Given the description of an element on the screen output the (x, y) to click on. 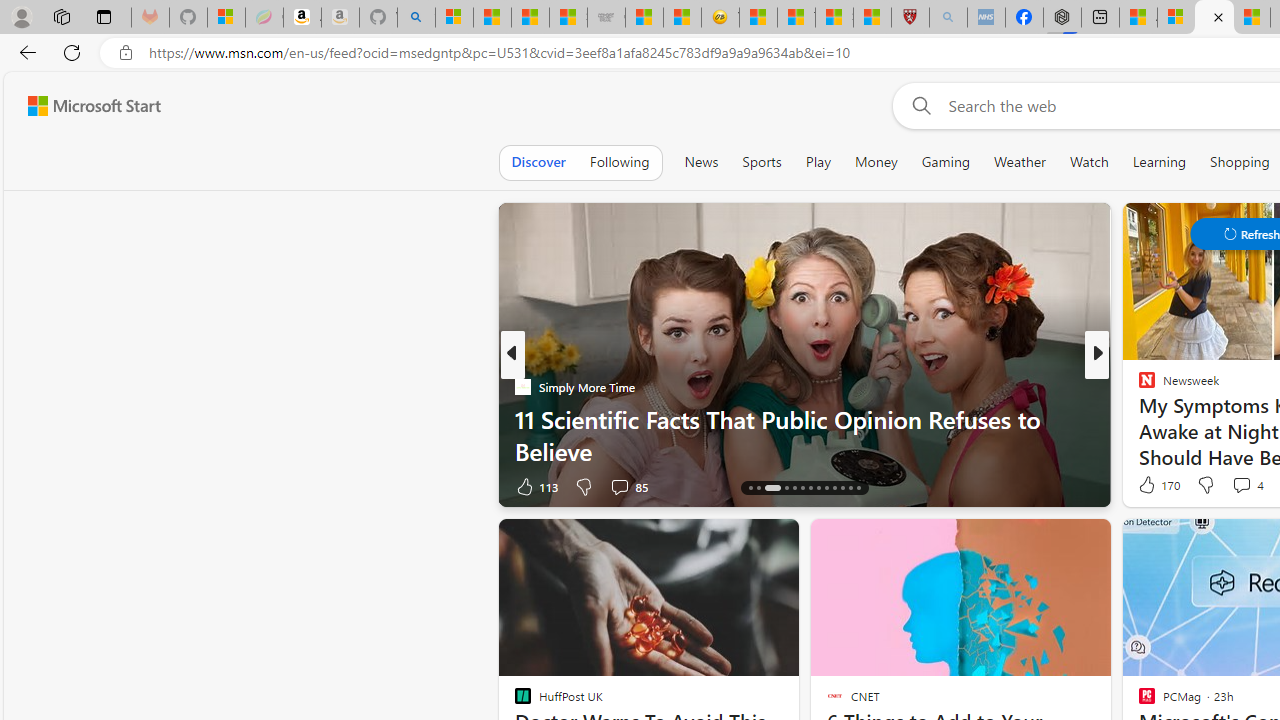
AutomationID: tab-22 (825, 487)
TODAY (1138, 386)
View comments 85 Comment (619, 485)
AutomationID: tab-21 (818, 487)
AutomationID: tab-24 (842, 487)
Hide this story (1169, 542)
3k Like (1148, 486)
